Given the description of an element on the screen output the (x, y) to click on. 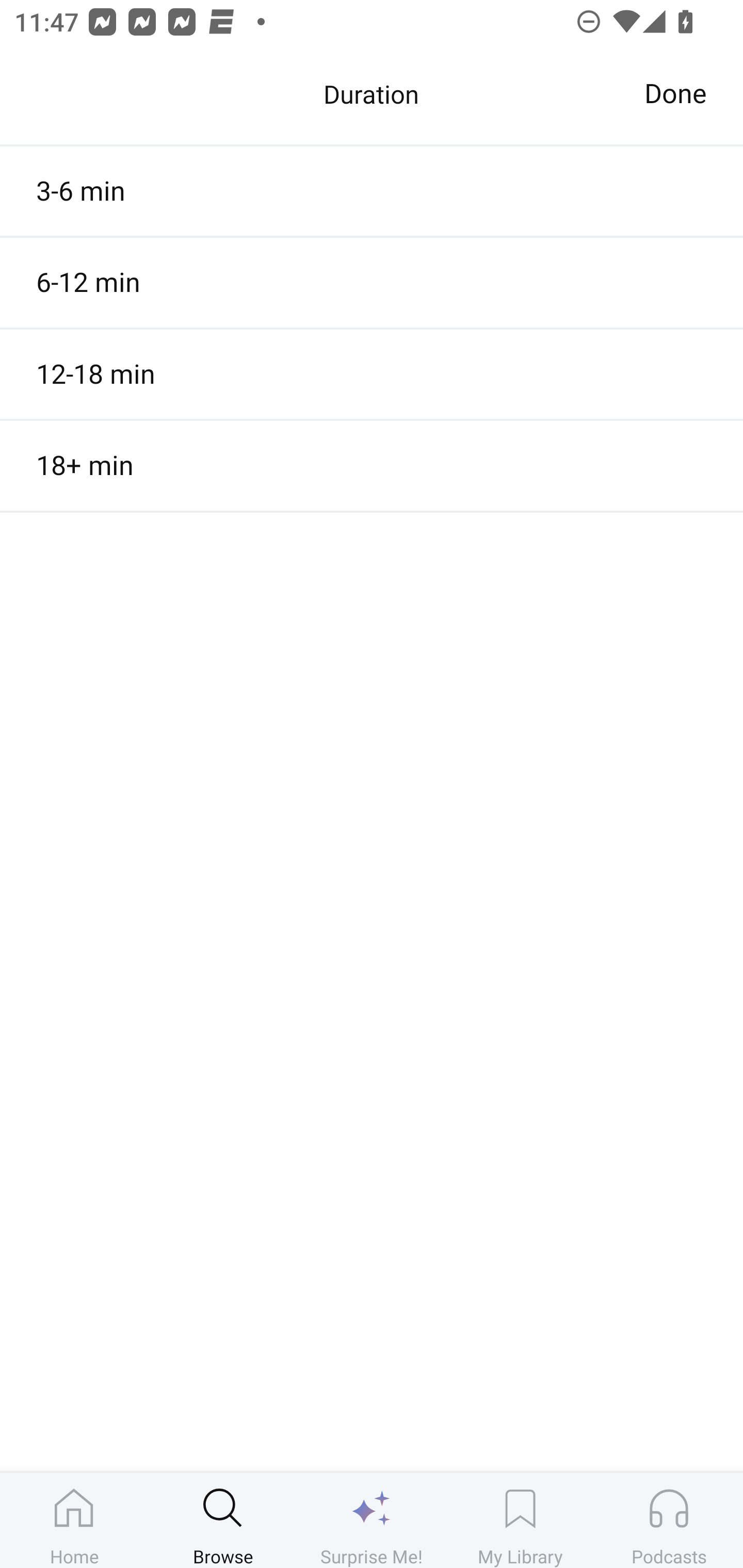
Health (371, 100)
Done (675, 93)
3-6 min (371, 190)
6-12 min (371, 282)
12-18 min (371, 373)
18+ min (371, 465)
Home (74, 1520)
Browse (222, 1520)
Surprise Me! (371, 1520)
My Library (519, 1520)
Podcasts (668, 1520)
